Given the description of an element on the screen output the (x, y) to click on. 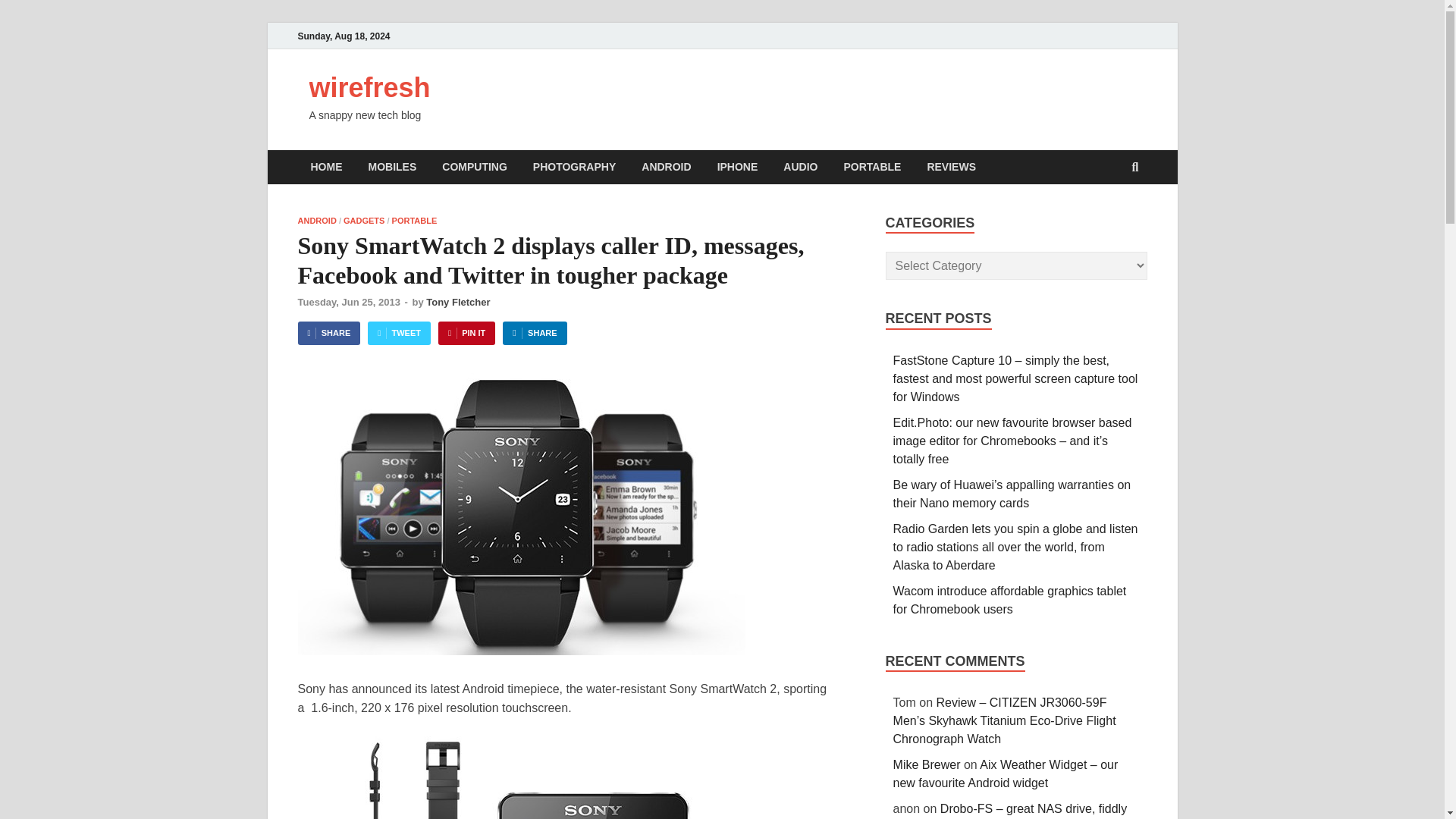
TWEET (399, 332)
AUDIO (799, 166)
wirefresh (369, 87)
HOME (326, 166)
SHARE (328, 332)
MOBILES (392, 166)
Tuesday, Jun 25, 2013 (347, 301)
PORTABLE (871, 166)
COMPUTING (474, 166)
ANDROID (665, 166)
